Given the description of an element on the screen output the (x, y) to click on. 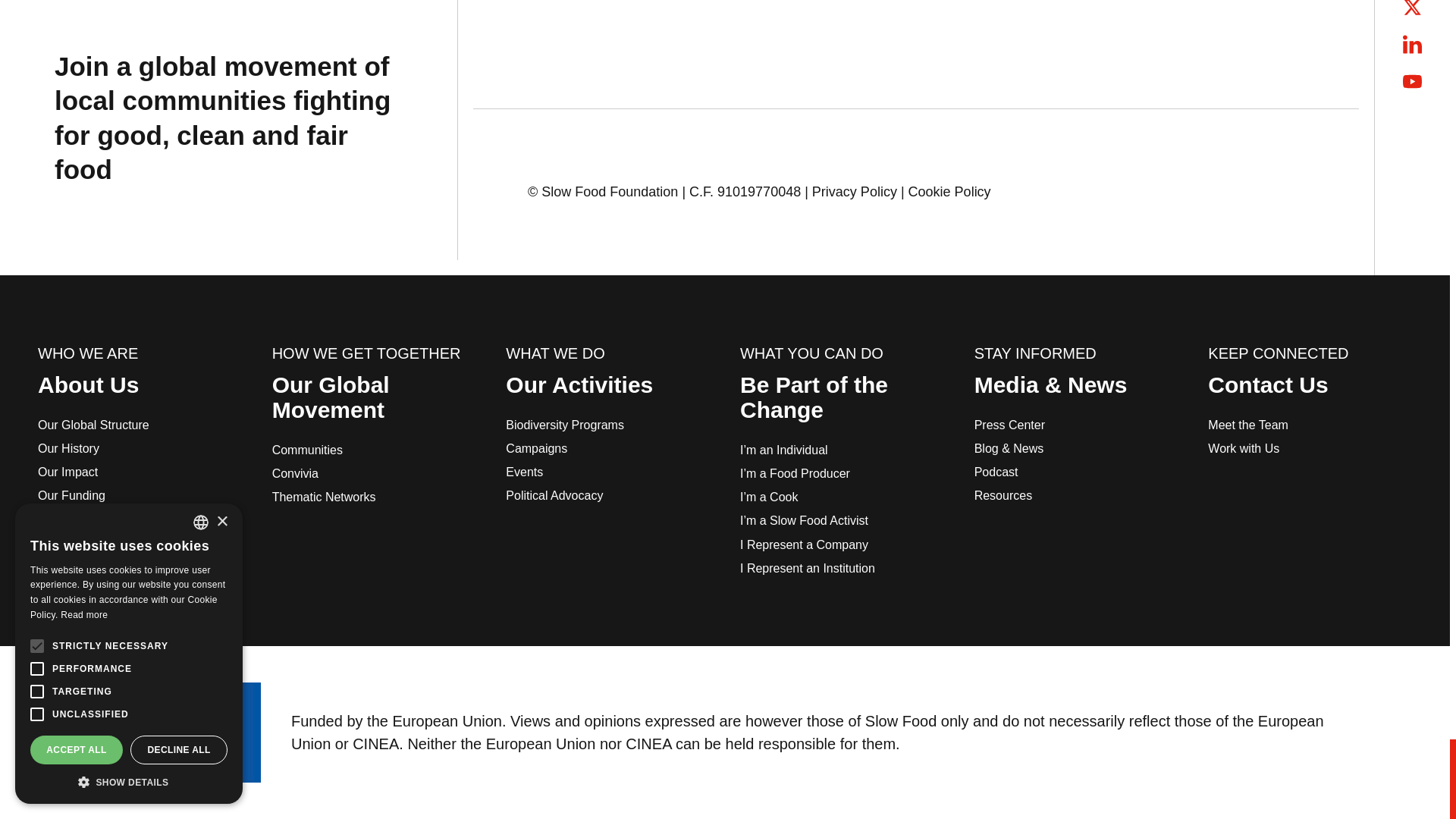
Cookie Policy (949, 191)
Privacy Policy (854, 191)
Follow us on twitter (1412, 8)
